Given the description of an element on the screen output the (x, y) to click on. 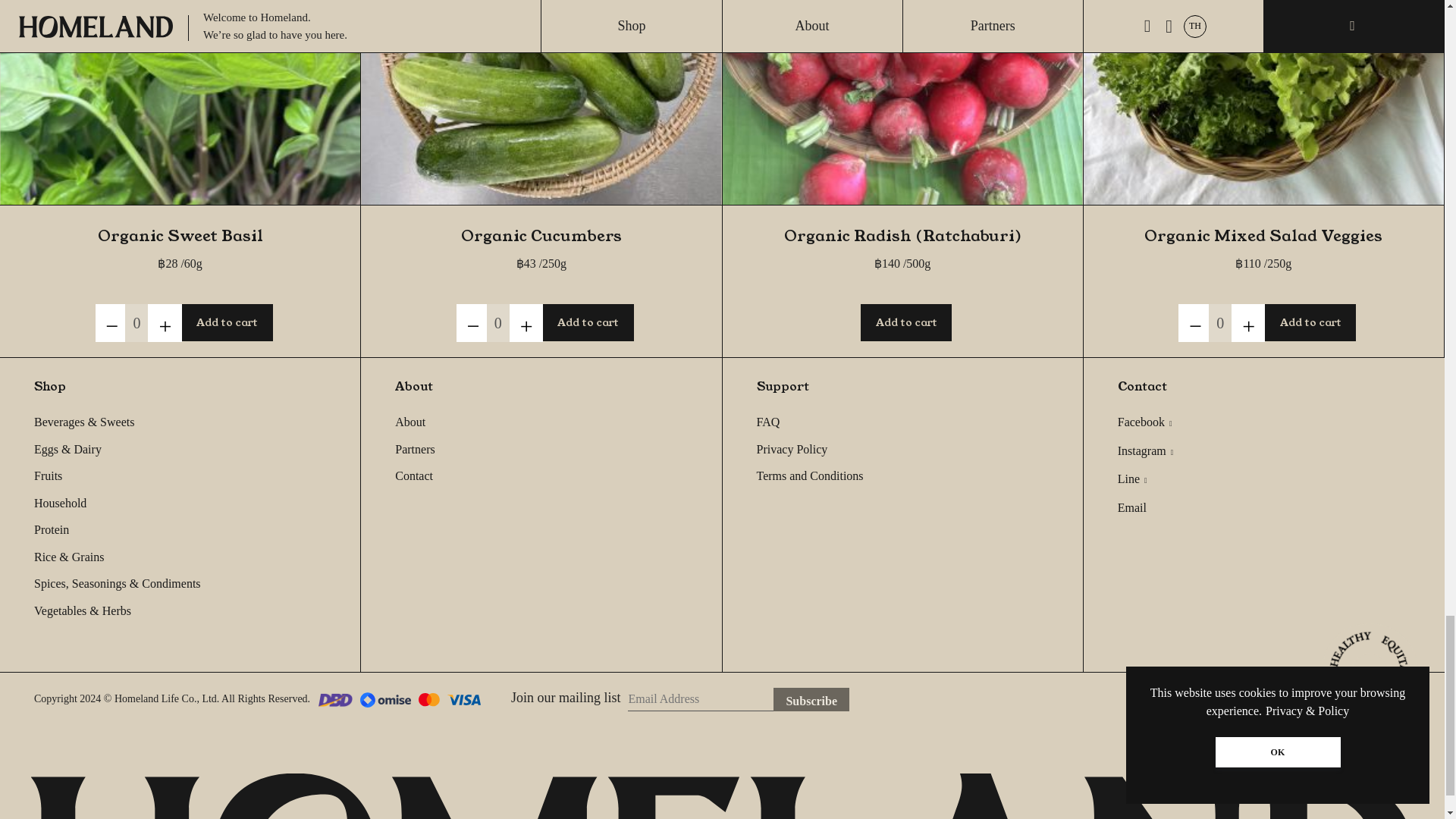
Subscribe (810, 699)
